Given the description of an element on the screen output the (x, y) to click on. 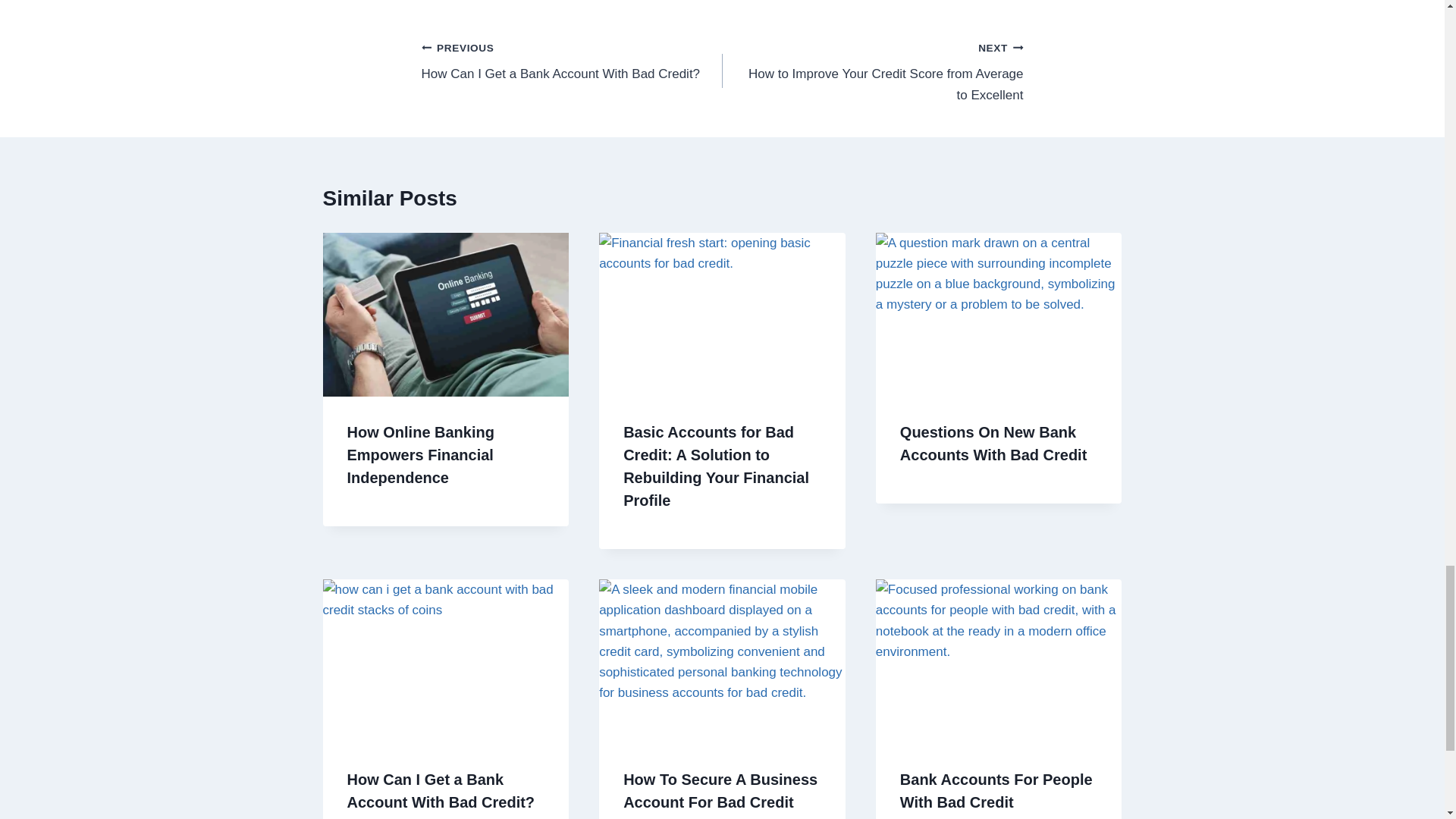
How To Secure A Business Account For Bad Credit (719, 790)
How Can I Get a Bank Account With Bad Credit (572, 60)
How Can I Get a Bank Account With Bad Credit? (421, 455)
Bank Accounts For People With Bad Credit (441, 790)
Questions On New Bank Accounts With Bad Credit (996, 790)
